Given the description of an element on the screen output the (x, y) to click on. 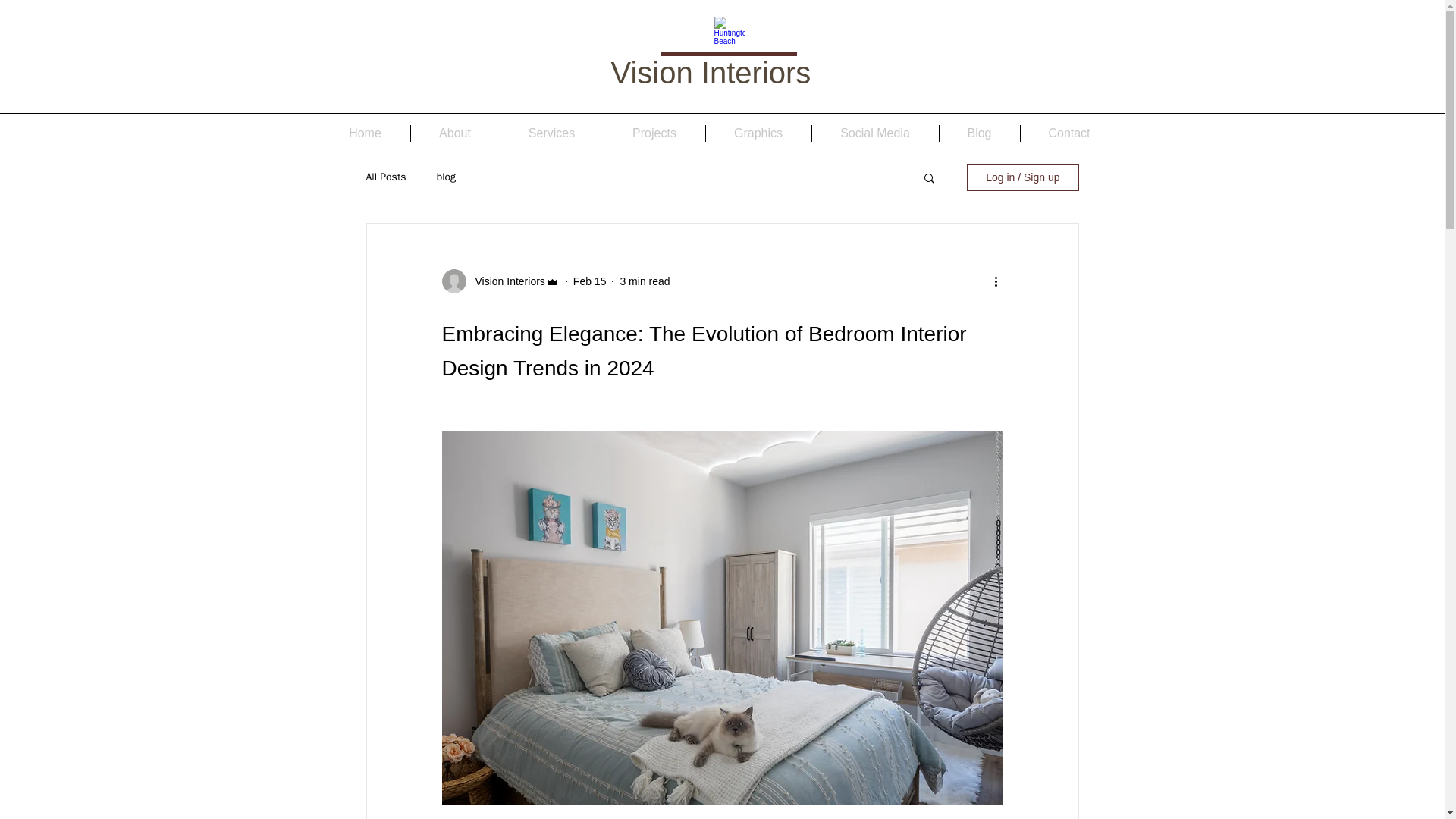
Vision (652, 72)
Blog (979, 133)
Vision Interiors  (504, 280)
Social Media (873, 133)
Graphics (757, 133)
Contact (1069, 133)
All Posts (385, 177)
3 min read (644, 280)
Home (364, 133)
Projects (654, 133)
About (454, 133)
Feb 15 (590, 280)
blog (445, 177)
